Given the description of an element on the screen output the (x, y) to click on. 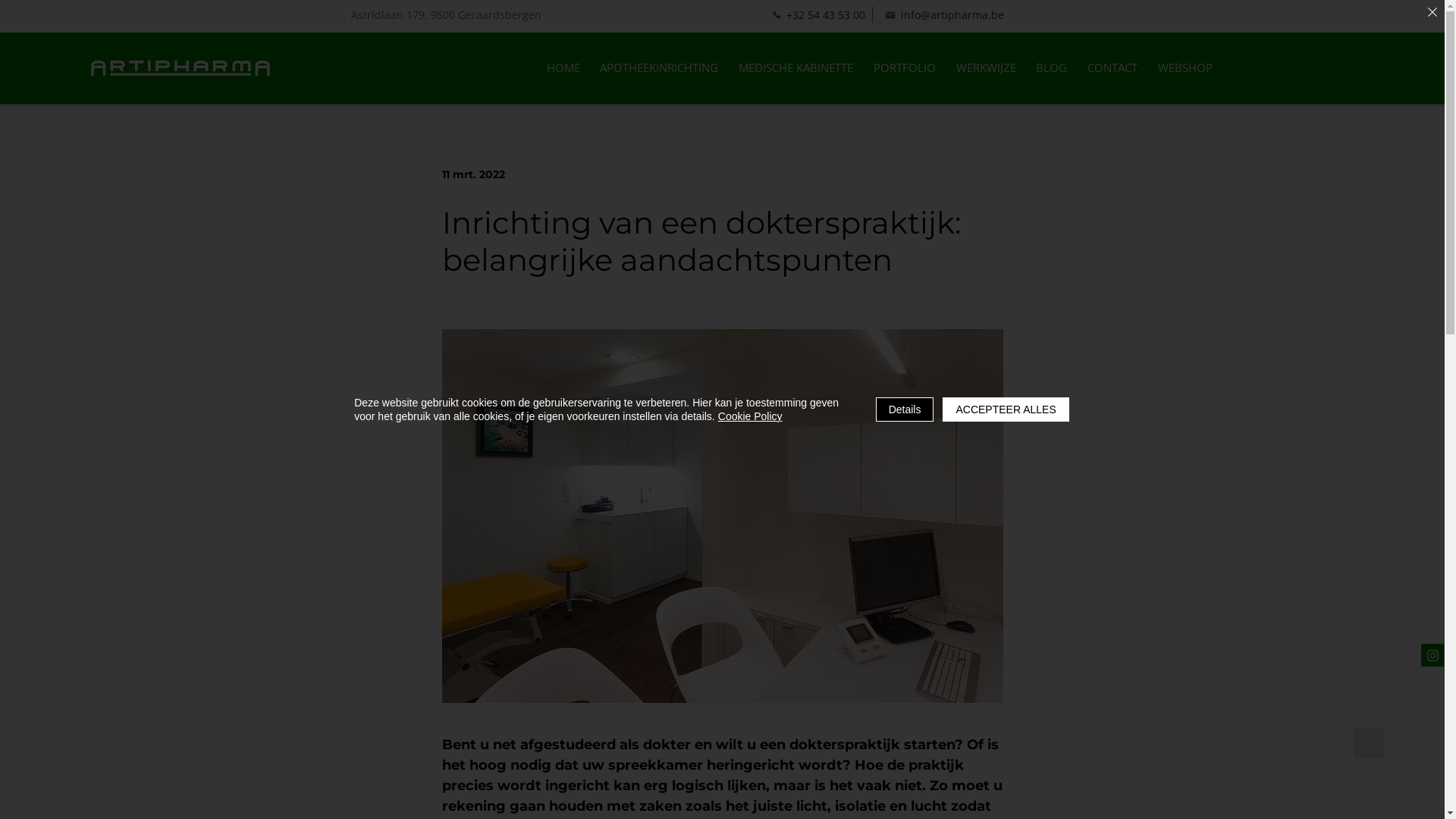
WEBSHOP Element type: text (1184, 67)
CONTACT Element type: text (1112, 67)
+32 54 43 53 00 Element type: text (818, 14)
MEDISCHE KABINETTE Element type: text (795, 67)
Cookie Policy Element type: text (750, 416)
ACCEPTEER ALLES Element type: text (1005, 409)
info@artipharma.be Element type: text (943, 14)
PORTFOLIO Element type: text (903, 67)
HOME Element type: text (562, 67)
APOTHEEKINRICHTING Element type: text (659, 67)
BLOG Element type: text (1051, 67)
WERKWIJZE Element type: text (985, 67)
Details Element type: text (904, 409)
